Given the description of an element on the screen output the (x, y) to click on. 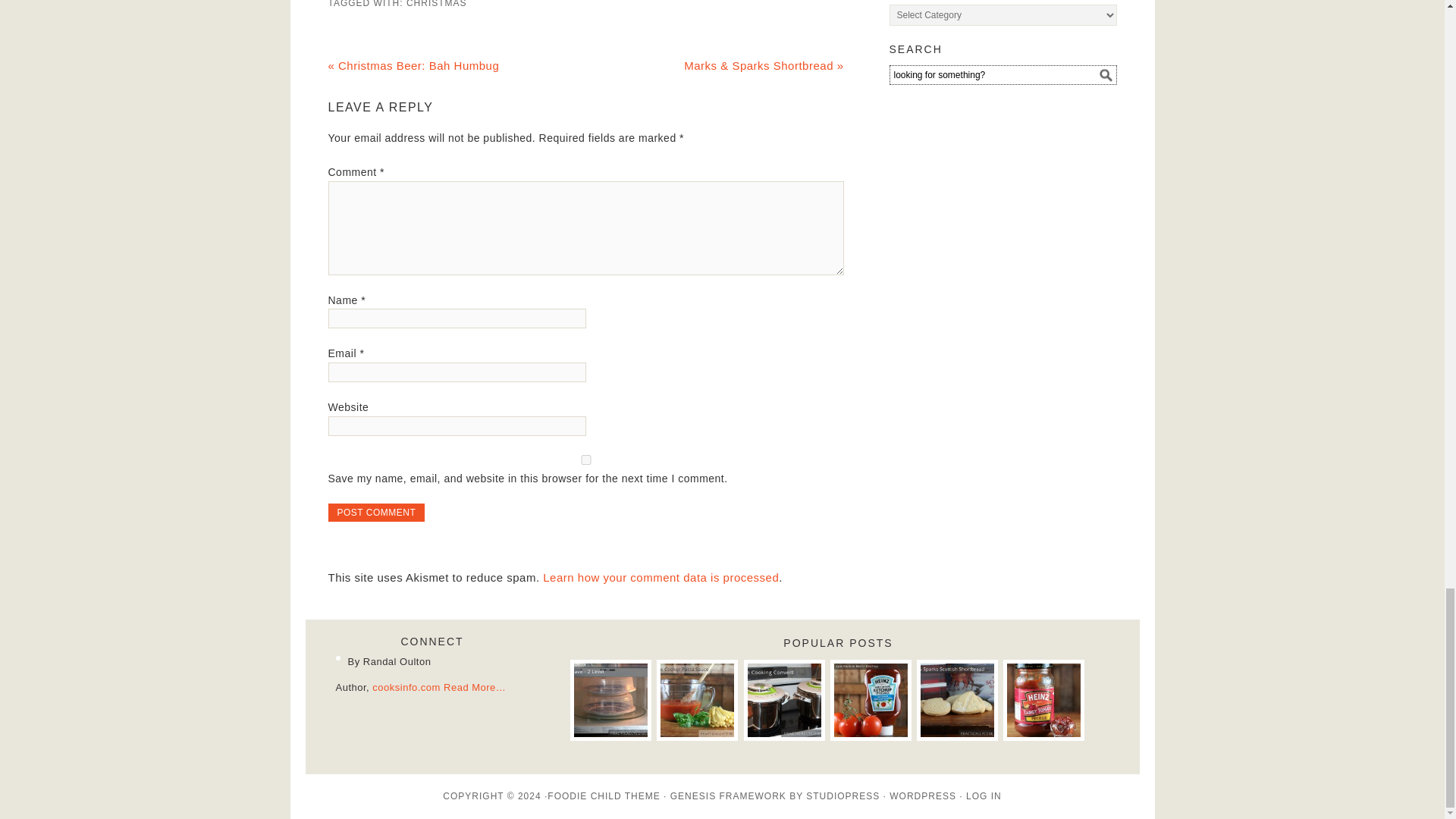
yes (585, 460)
Post Comment (376, 512)
Pressure Cooking Convert (784, 699)
cooksinfo.com (406, 686)
Learn how your comment data is processed (660, 576)
Two-level microwave oven cooking (610, 699)
Heinz Tangy Tomato Pickle (1043, 699)
CHRISTMAS (436, 4)
